Given the description of an element on the screen output the (x, y) to click on. 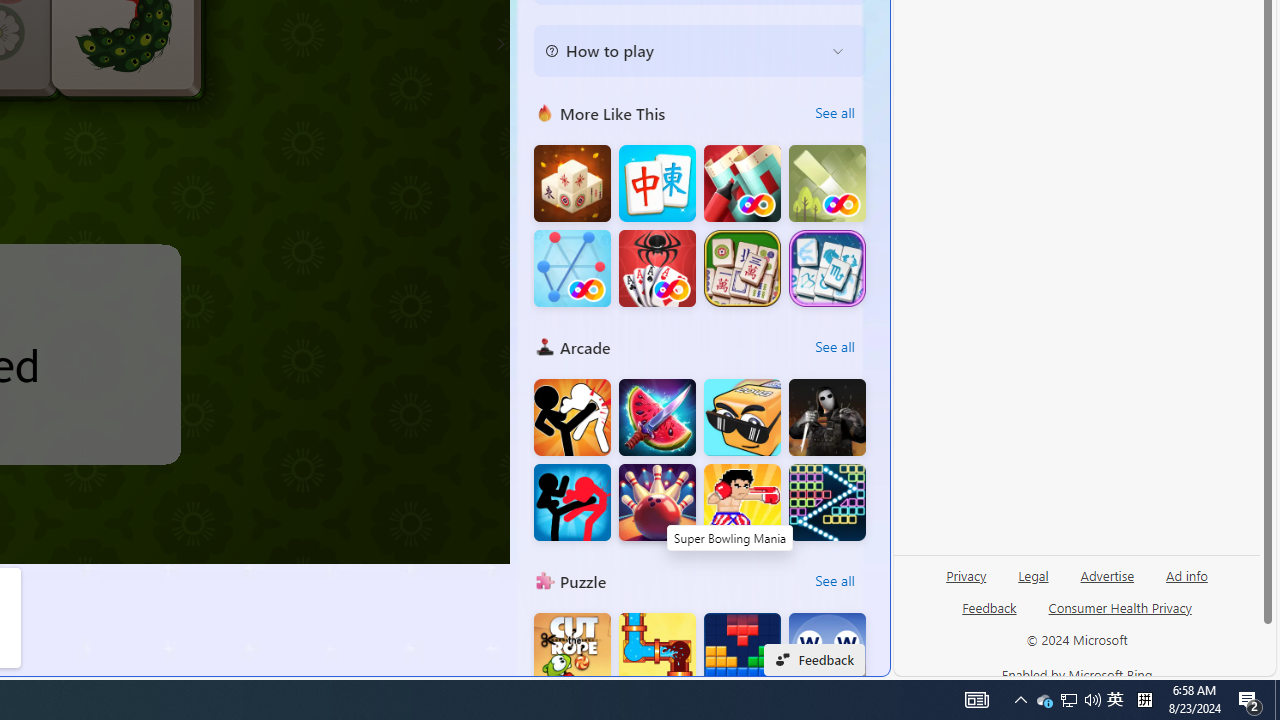
Unblock FRVR (827, 183)
Spider FRVR (657, 268)
Puzzle (544, 580)
Zodiac Mahjong (827, 268)
Plumber World (657, 651)
Stickman Fighter : Mega Brawl (571, 417)
Words of Wonders (827, 651)
Mahjong 3D Connect (571, 183)
See all (834, 580)
Mahjong Big (657, 183)
Consumer Health Privacy (1119, 615)
